Given the description of an element on the screen output the (x, y) to click on. 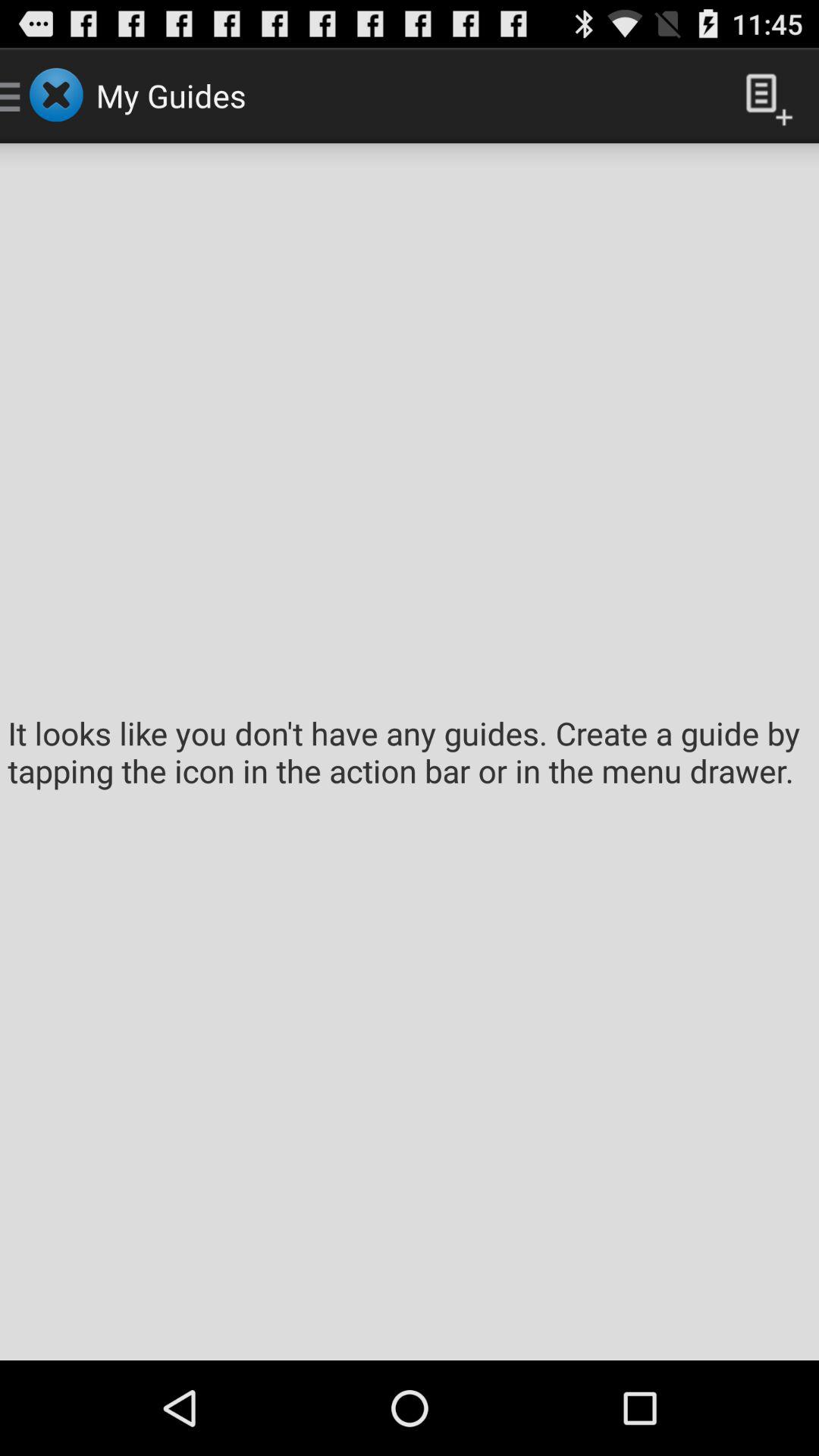
open it looks like (409, 751)
